Given the description of an element on the screen output the (x, y) to click on. 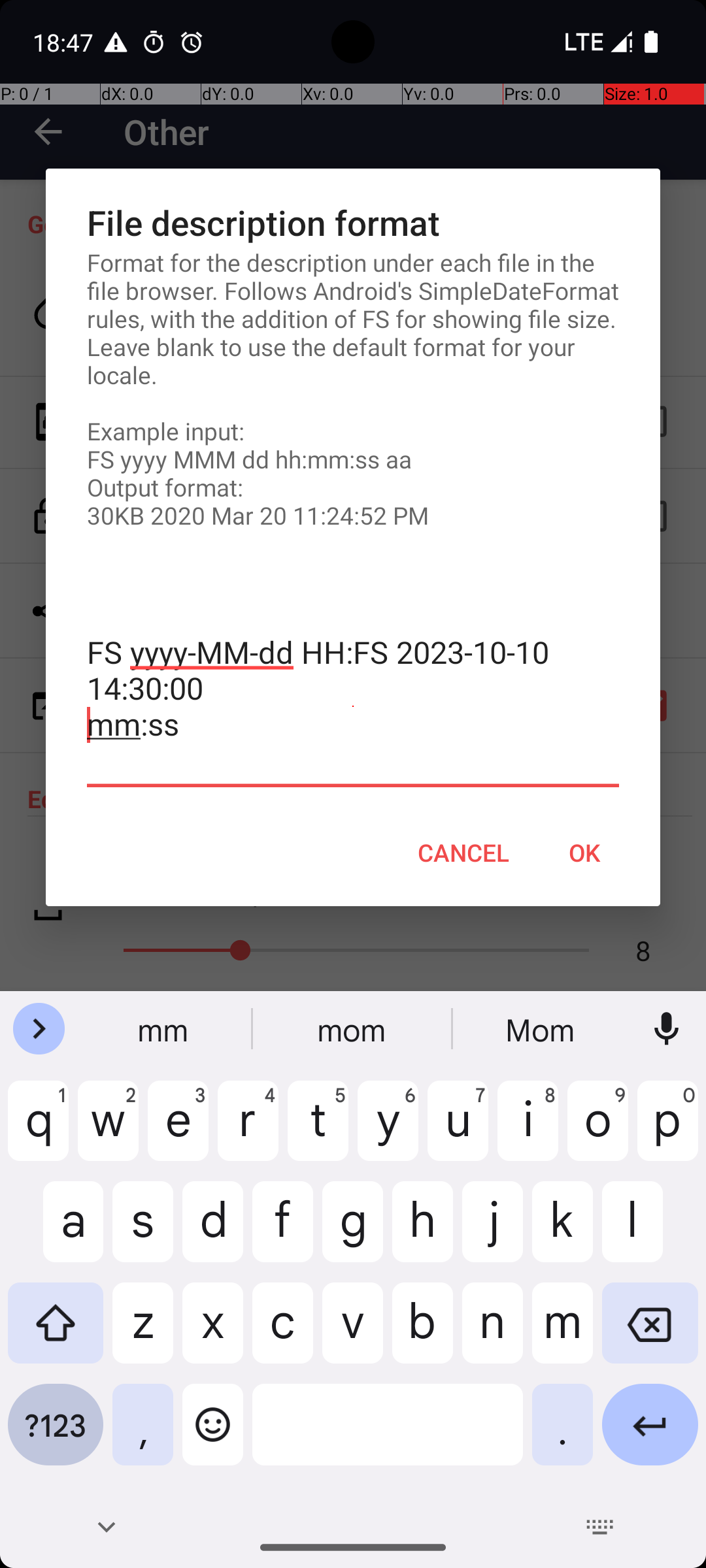
File description format Element type: android.widget.TextView (352, 222)
Format for the description under each file in the file browser. Follows Android's SimpleDateFormat rules, with the addition of FS for showing file size. Leave blank to use the default format for your locale.

Example input:
FS yyyy MMM dd hh:mm:ss aa
Output format:
30KB 2020 Mar 20 11:24:52 PM Element type: android.widget.TextView (352, 388)
FS yyyy-MM-dd HH:FS 2023-10-10 14:30:00
mm:ss
 Element type: android.widget.EditText (352, 706)
mm Element type: android.widget.FrameLayout (163, 1028)
mom Element type: android.widget.FrameLayout (352, 1028)
Mom Element type: android.widget.FrameLayout (541, 1028)
18:47 Element type: android.widget.TextView (64, 41)
Clock notification: Upcoming alarm Element type: android.widget.ImageView (191, 41)
